Given the description of an element on the screen output the (x, y) to click on. 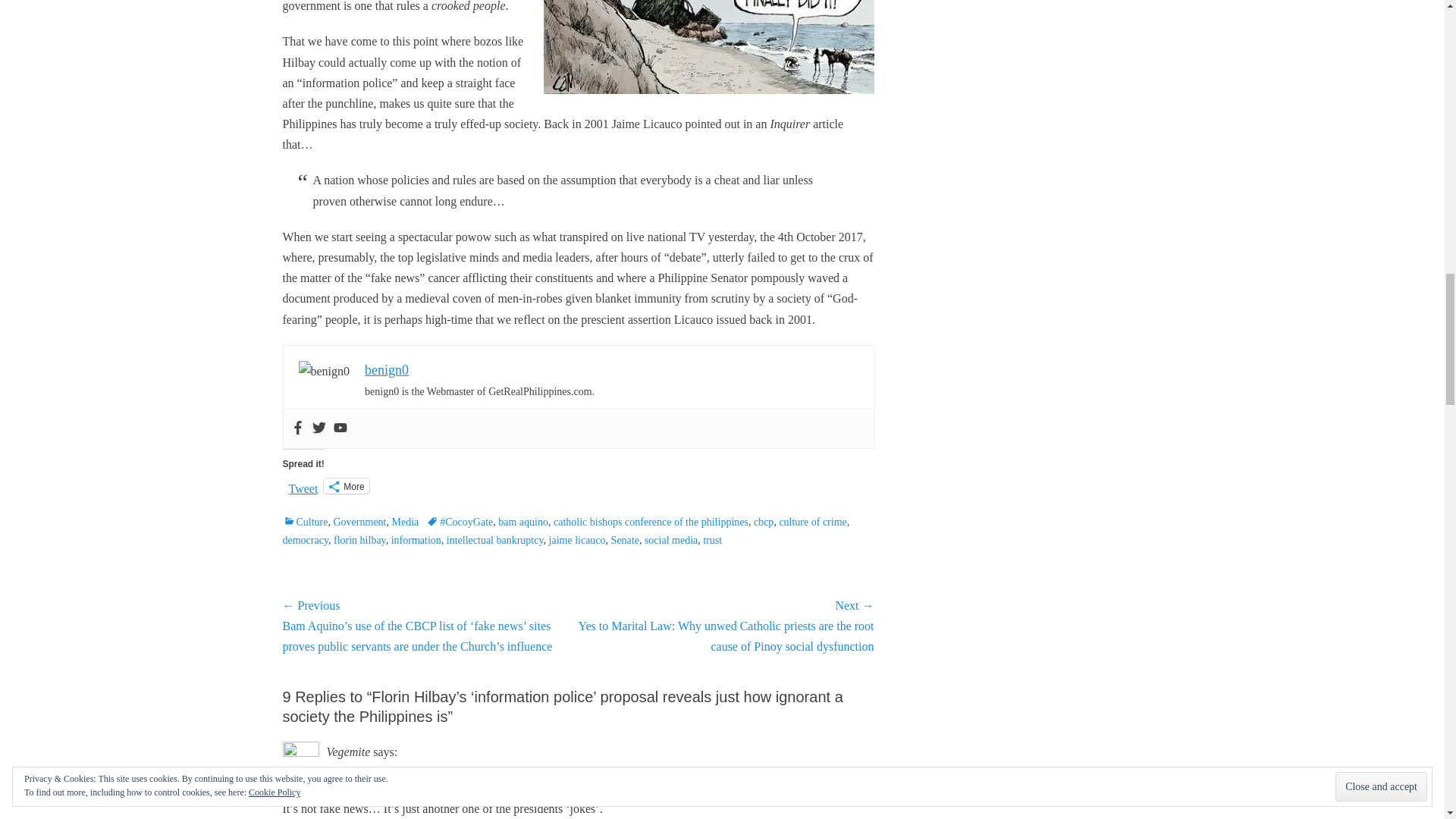
Culture (304, 521)
culture of crime (811, 521)
More (345, 485)
benign0 (387, 369)
bam aquino (522, 521)
cbcp (763, 521)
catholic bishops conference of the philippines (650, 521)
Government (360, 521)
Tweet (302, 485)
Media (405, 521)
